Given the description of an element on the screen output the (x, y) to click on. 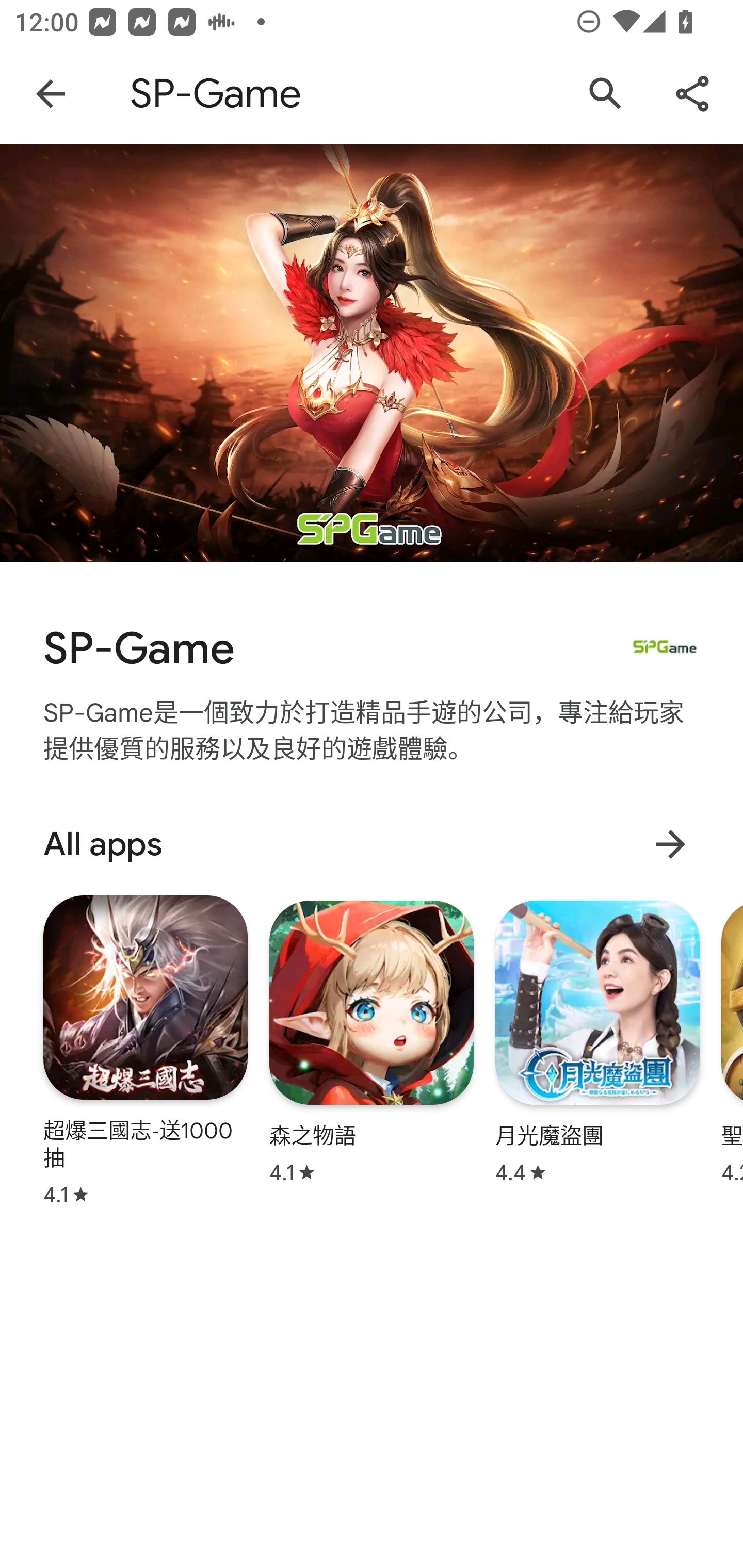
Navigate up (50, 93)
Search Google Play (605, 93)
Share (692, 93)
All apps More results for All apps (371, 844)
More results for All apps (670, 844)
超爆三國志-送1000抽
Star rating: 4.1
 (145, 1050)
森之物語
Star rating: 4.1
 (371, 1041)
月光魔盜團
Star rating: 4.4
 (597, 1041)
